Given the description of an element on the screen output the (x, y) to click on. 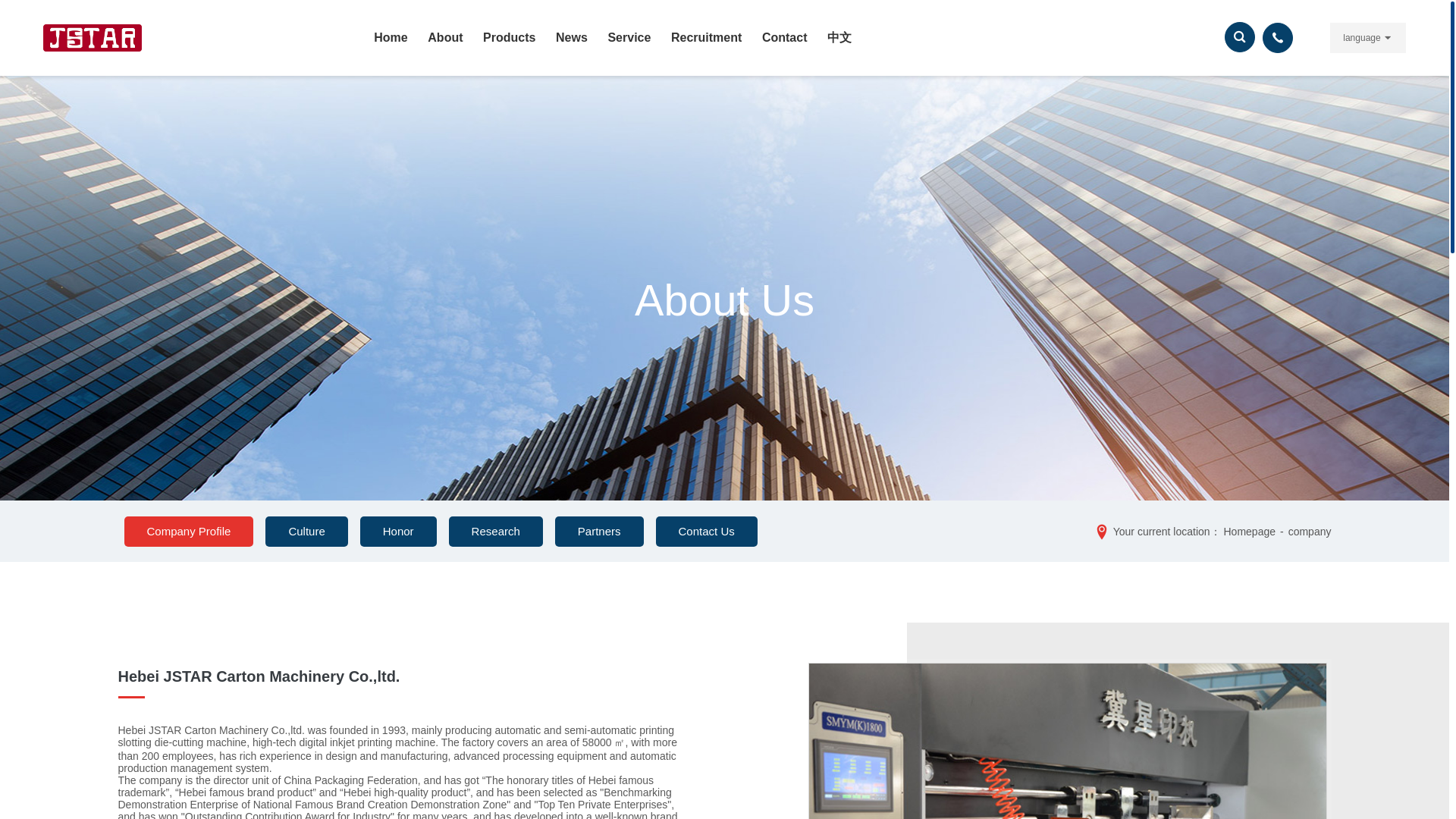
Research (495, 531)
Contact Us (706, 531)
Culture (305, 531)
Partners (598, 531)
Honor (397, 531)
Honor (397, 531)
Culture (305, 531)
Research (495, 531)
Contact Us (706, 531)
Company Profile (188, 531)
